Given the description of an element on the screen output the (x, y) to click on. 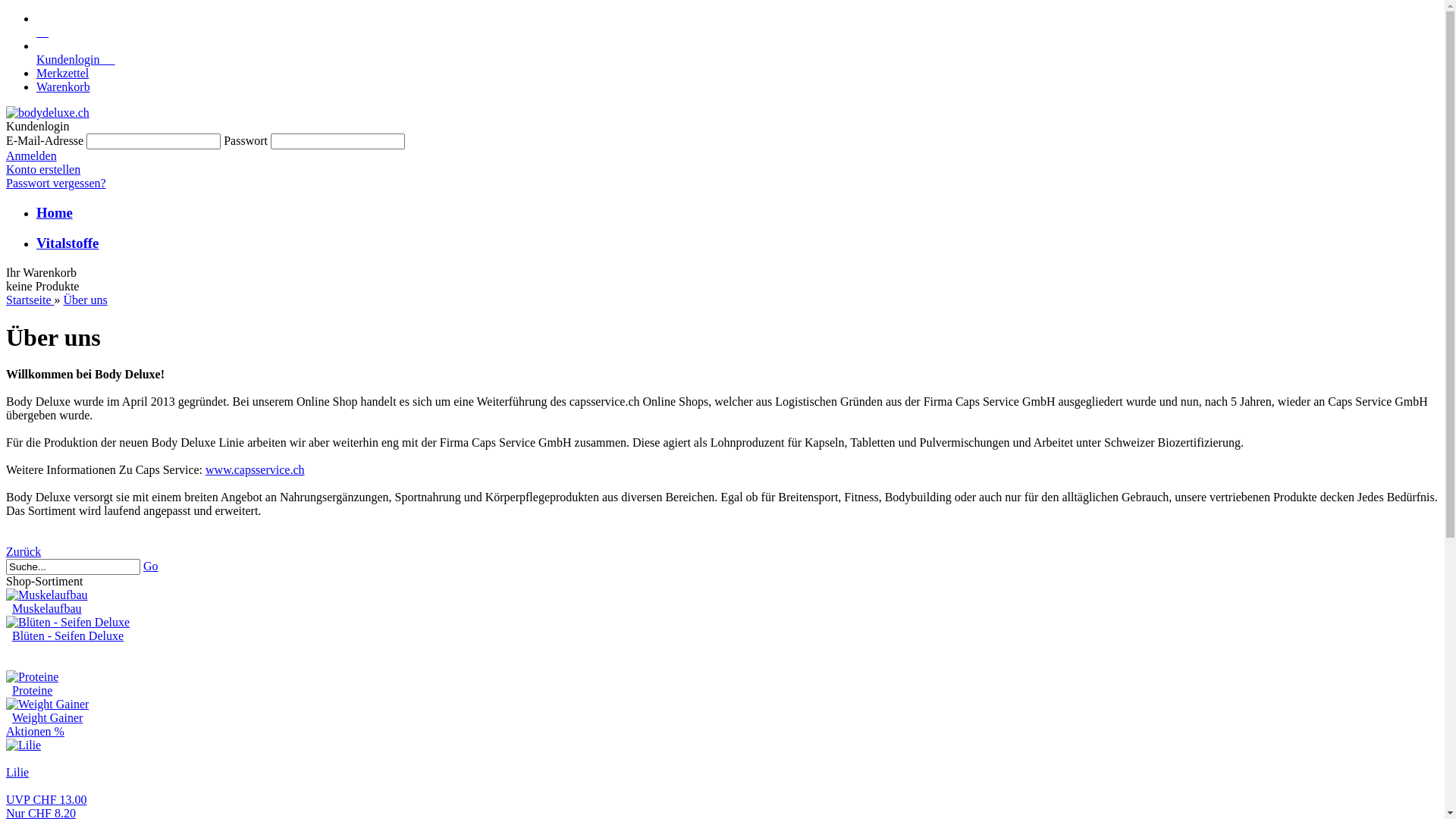
Startseite Element type: text (30, 299)
Anmelden Element type: text (31, 155)
Kundenlogin      Element type: text (75, 59)
Home Element type: text (54, 212)
Go Element type: text (150, 565)
Lilie Element type: text (17, 771)
Weight Gainer Element type: hover (47, 704)
Merkzettel Element type: text (62, 72)
Vitalstoffe Element type: text (67, 243)
Muskelaufbau Element type: hover (46, 595)
Passwort vergessen? Element type: text (56, 182)
Lilie Element type: hover (23, 745)
     Element type: text (42, 31)
bodydeluxe.ch Element type: hover (47, 112)
Startseite anzeigen Element type: hover (737, 25)
Proteine Element type: text (32, 690)
Proteine Element type: hover (32, 677)
Aktionen % Element type: text (722, 731)
Muskelaufbau Element type: text (46, 608)
Konto erstellen Element type: text (43, 169)
www.capsservice.ch Element type: text (254, 469)
Warenkorb Element type: text (63, 86)
Weight Gainer Element type: text (47, 717)
Startseite anzeigen Element type: hover (737, 18)
